Given the description of an element on the screen output the (x, y) to click on. 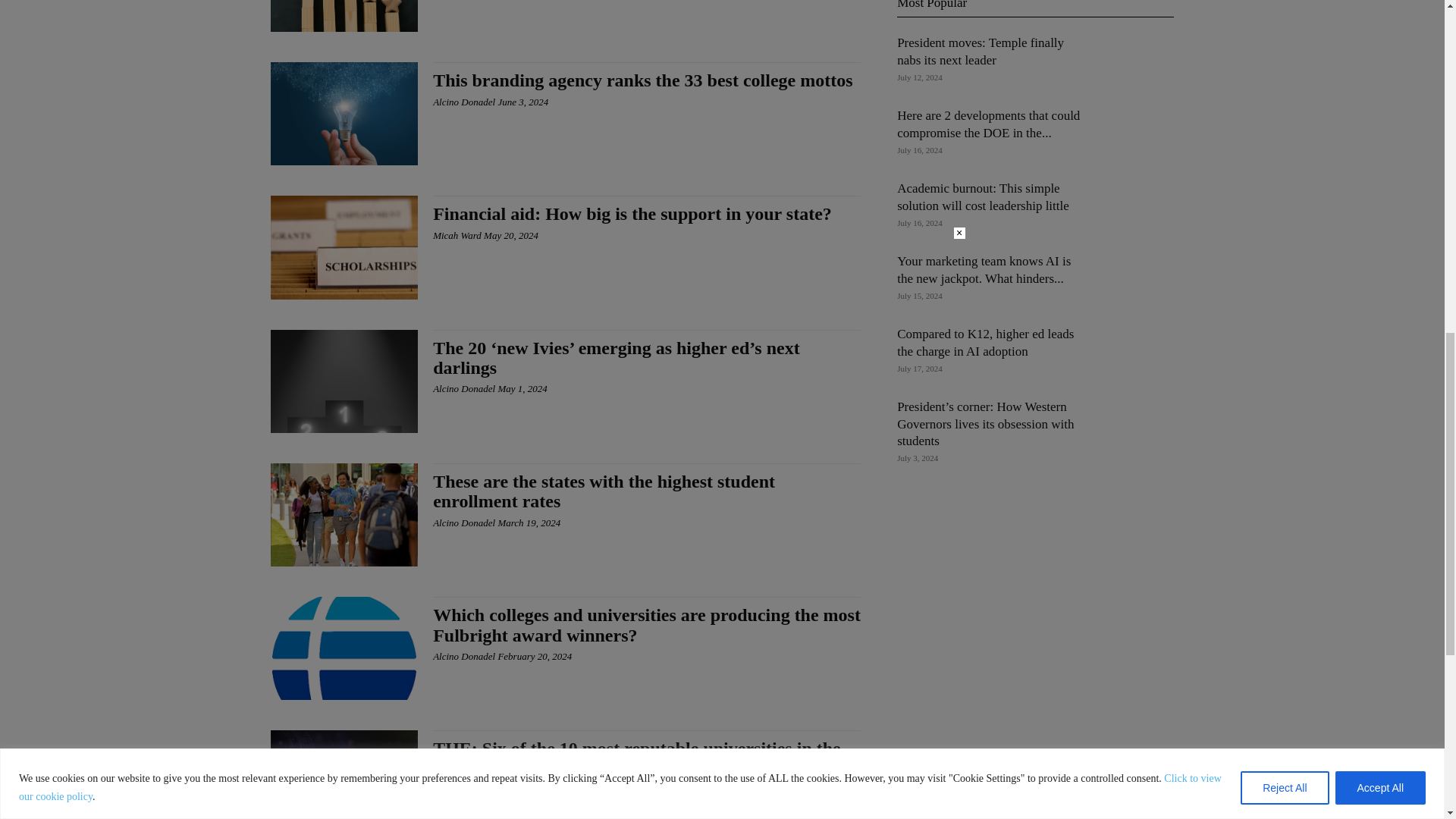
This branding agency ranks the 33 best college mottos (343, 113)
